Given the description of an element on the screen output the (x, y) to click on. 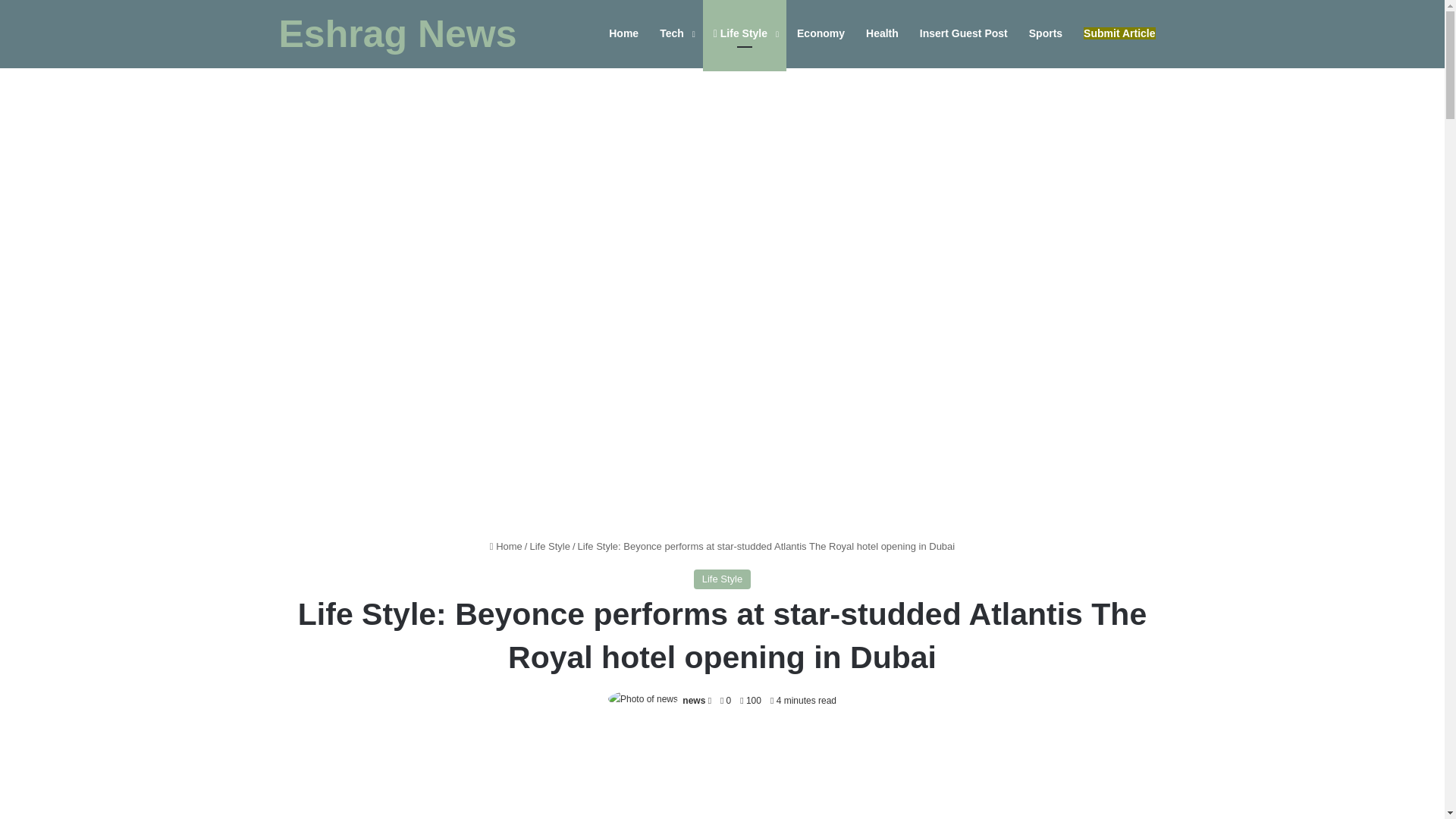
Life Style (549, 546)
news (693, 700)
Eshrag News (397, 34)
Life Style (744, 33)
Insert Guest Post (962, 33)
Eshrag News (397, 34)
Advertisement (722, 775)
Life Style (722, 578)
